Given the description of an element on the screen output the (x, y) to click on. 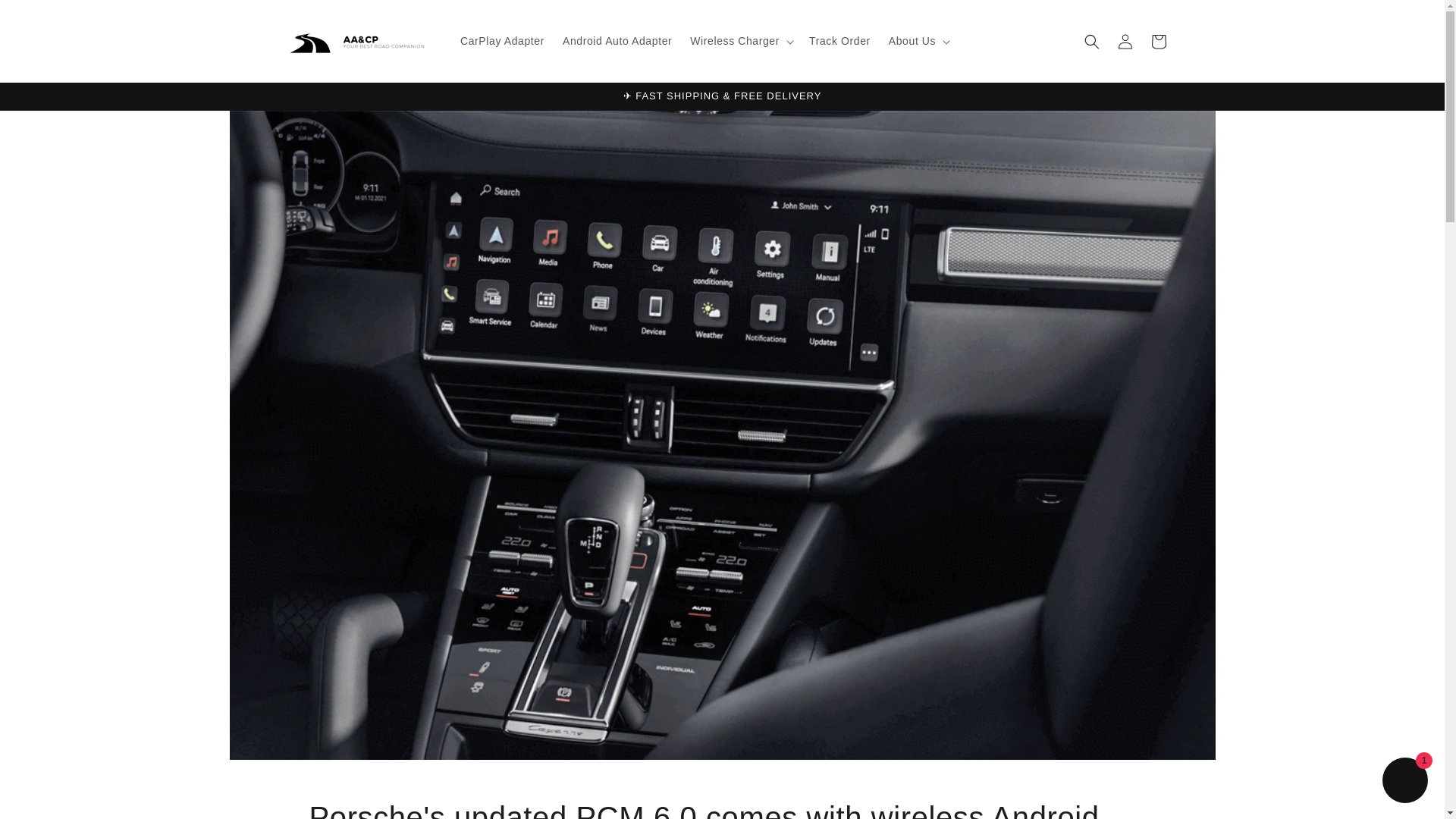
CarPlay Adapter (502, 40)
Track Order (839, 40)
Skip to content (45, 17)
Shopify online store chat (1404, 781)
Android Auto Adapter (617, 40)
